Given the description of an element on the screen output the (x, y) to click on. 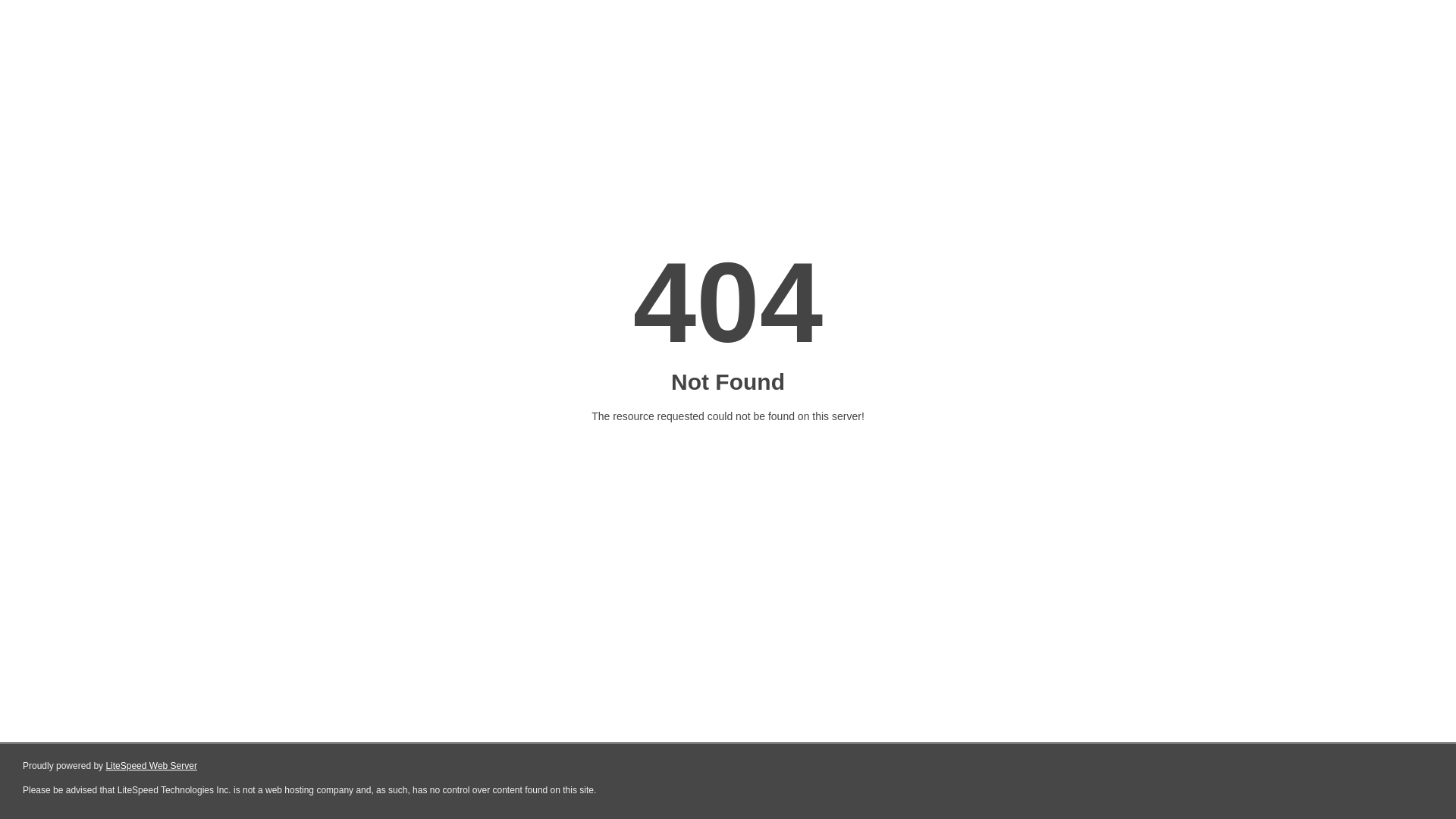
LiteSpeed Web Server Element type: text (151, 765)
